Given the description of an element on the screen output the (x, y) to click on. 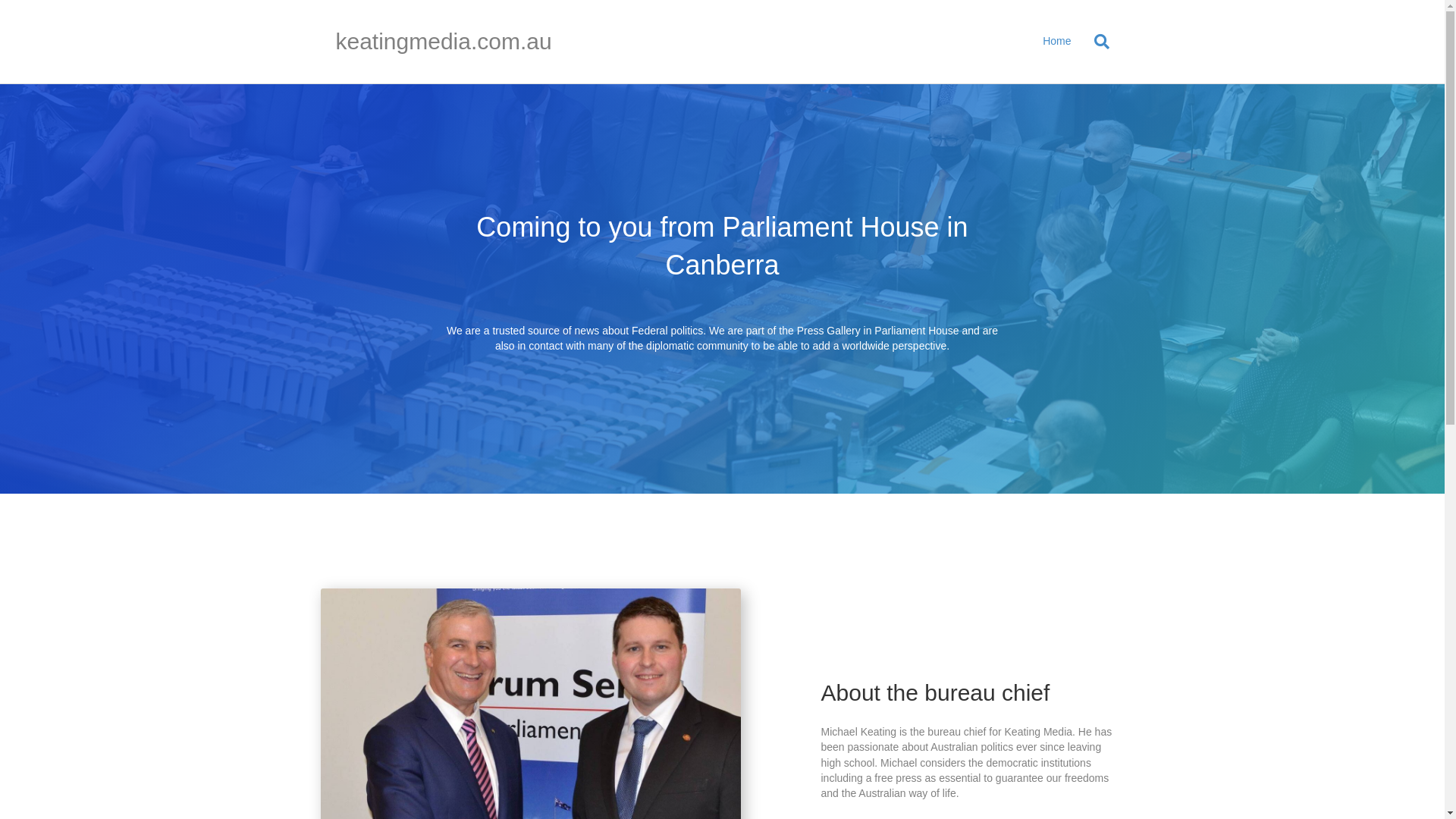
Home Element type: text (1056, 41)
keatingmedia.com.au Element type: text (458, 41)
